Given the description of an element on the screen output the (x, y) to click on. 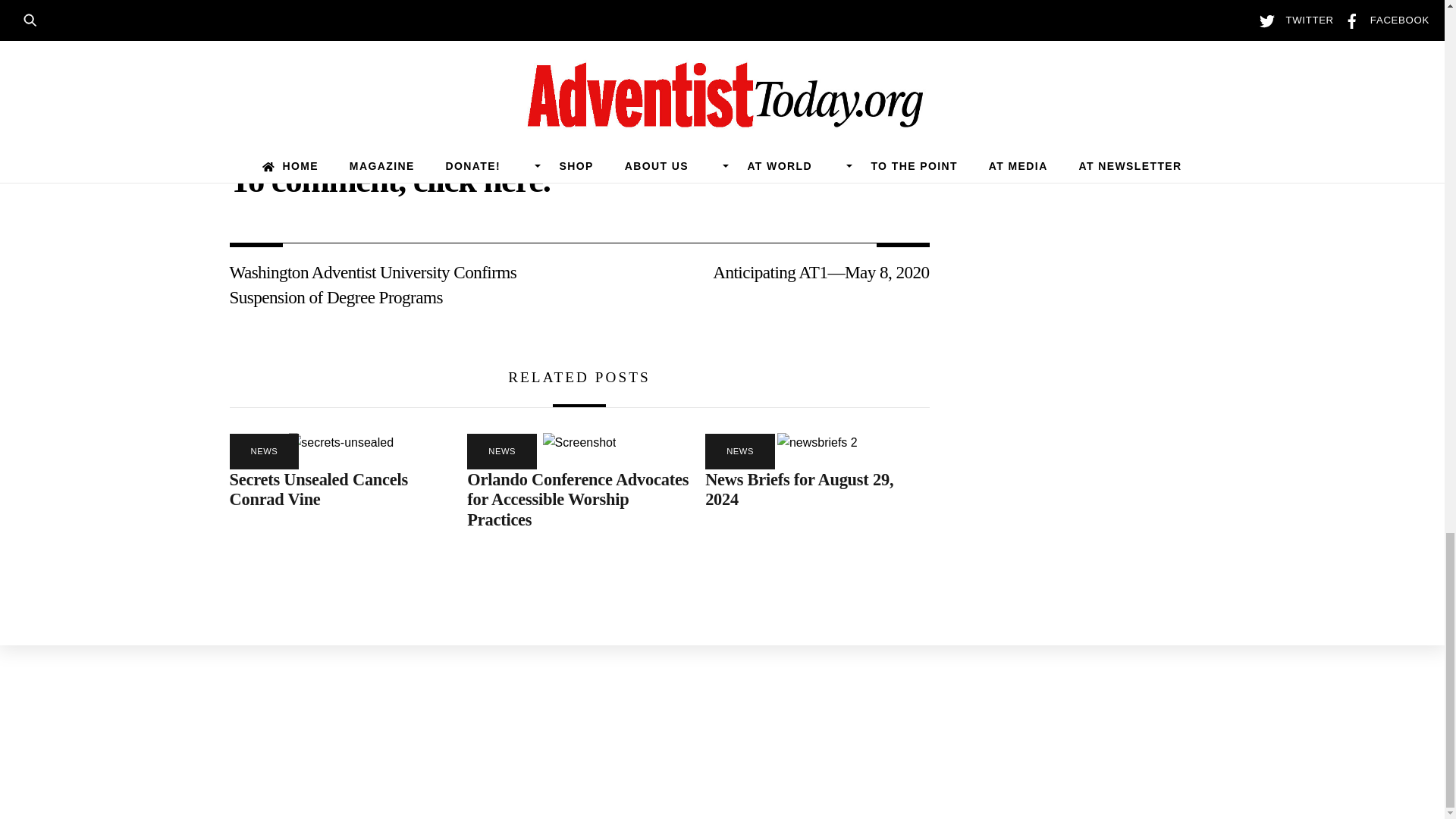
secrets-unsealed (340, 442)
Secrets Unsealed Cancels Conrad Vine (317, 489)
newsbriefs 2 (817, 442)
seen here (453, 78)
To comment, click here. (389, 179)
Screenshot (579, 442)
NEWS (263, 451)
